Given the description of an element on the screen output the (x, y) to click on. 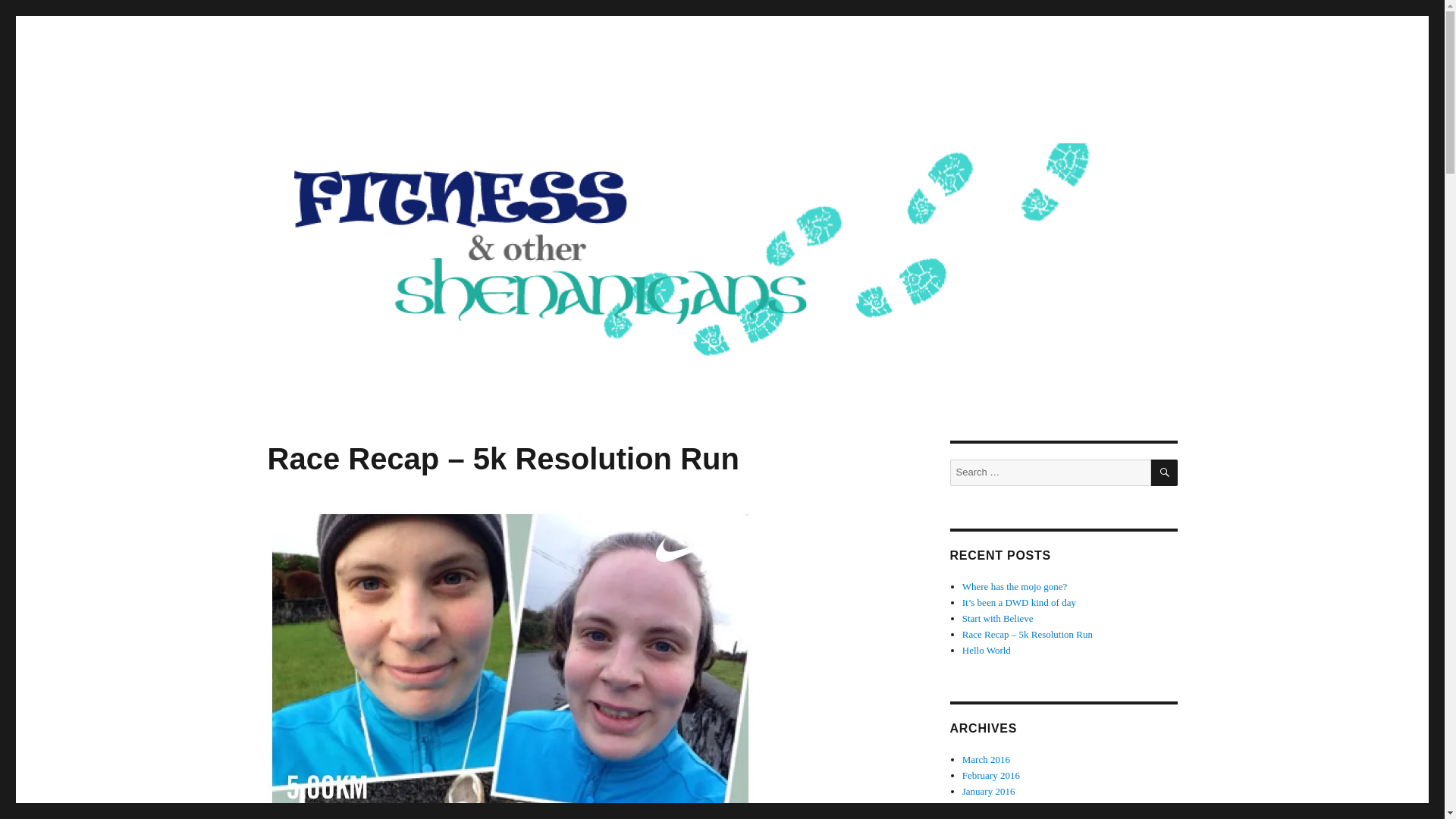
January 2016 (988, 790)
Fitness and other Shenanigans (423, 114)
Where has the mojo gone? (1014, 586)
February 2016 (991, 775)
SEARCH (1164, 472)
March 2016 (986, 758)
Start with Believe (997, 618)
Hello World (986, 650)
